Given the description of an element on the screen output the (x, y) to click on. 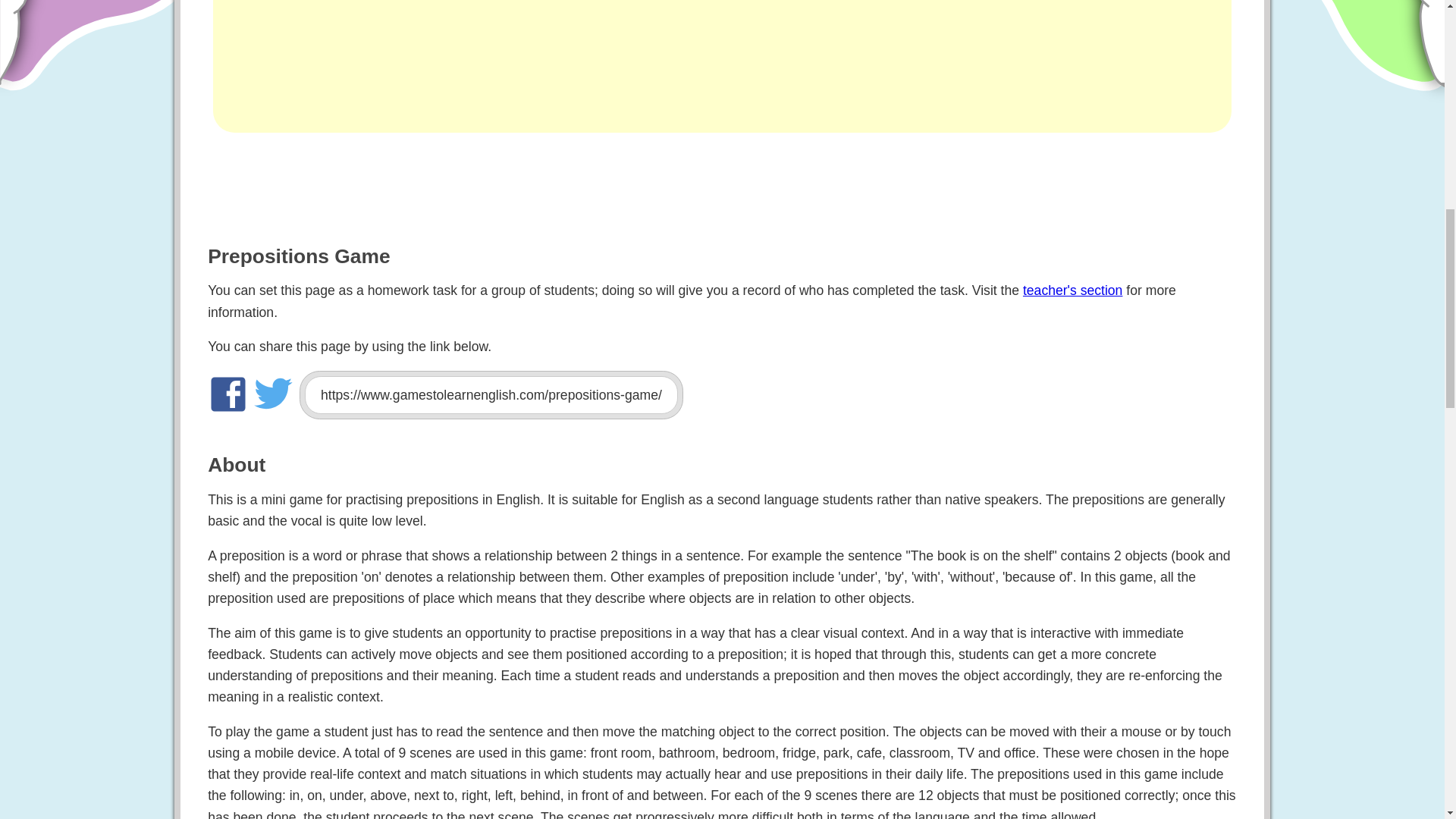
teacher's section (1072, 290)
